Given the description of an element on the screen output the (x, y) to click on. 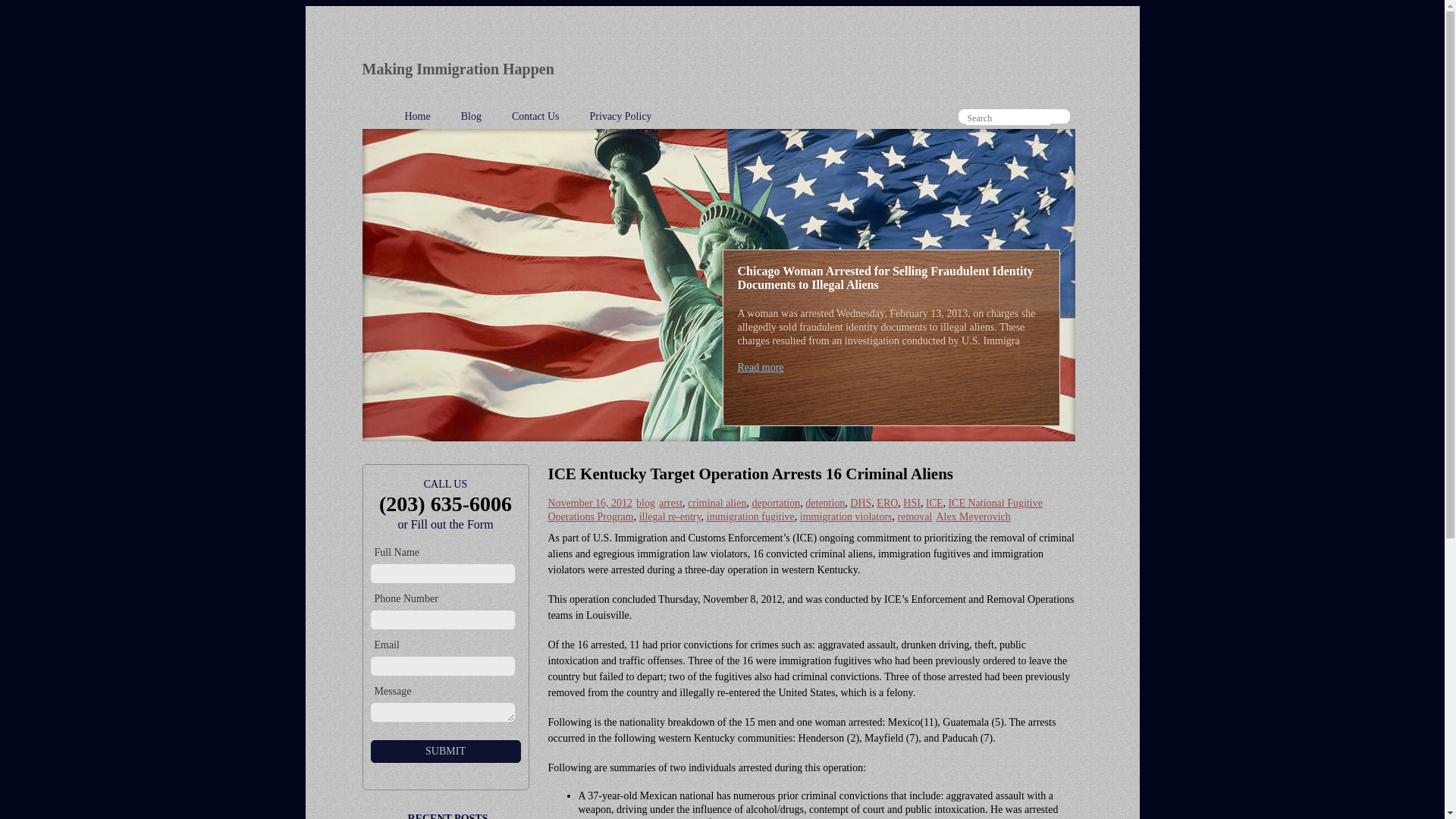
Alex Meyerovich (973, 516)
arrest (670, 502)
Read more (759, 367)
ICE National Fugitive Operations Program (794, 509)
HSI (911, 502)
November 16, 2012 (589, 502)
Home (417, 116)
detention (824, 502)
criminal alien (716, 502)
ERO (887, 502)
immigration fugitive (750, 516)
SUBMIT (444, 751)
removal (915, 516)
deportation (775, 502)
